Given the description of an element on the screen output the (x, y) to click on. 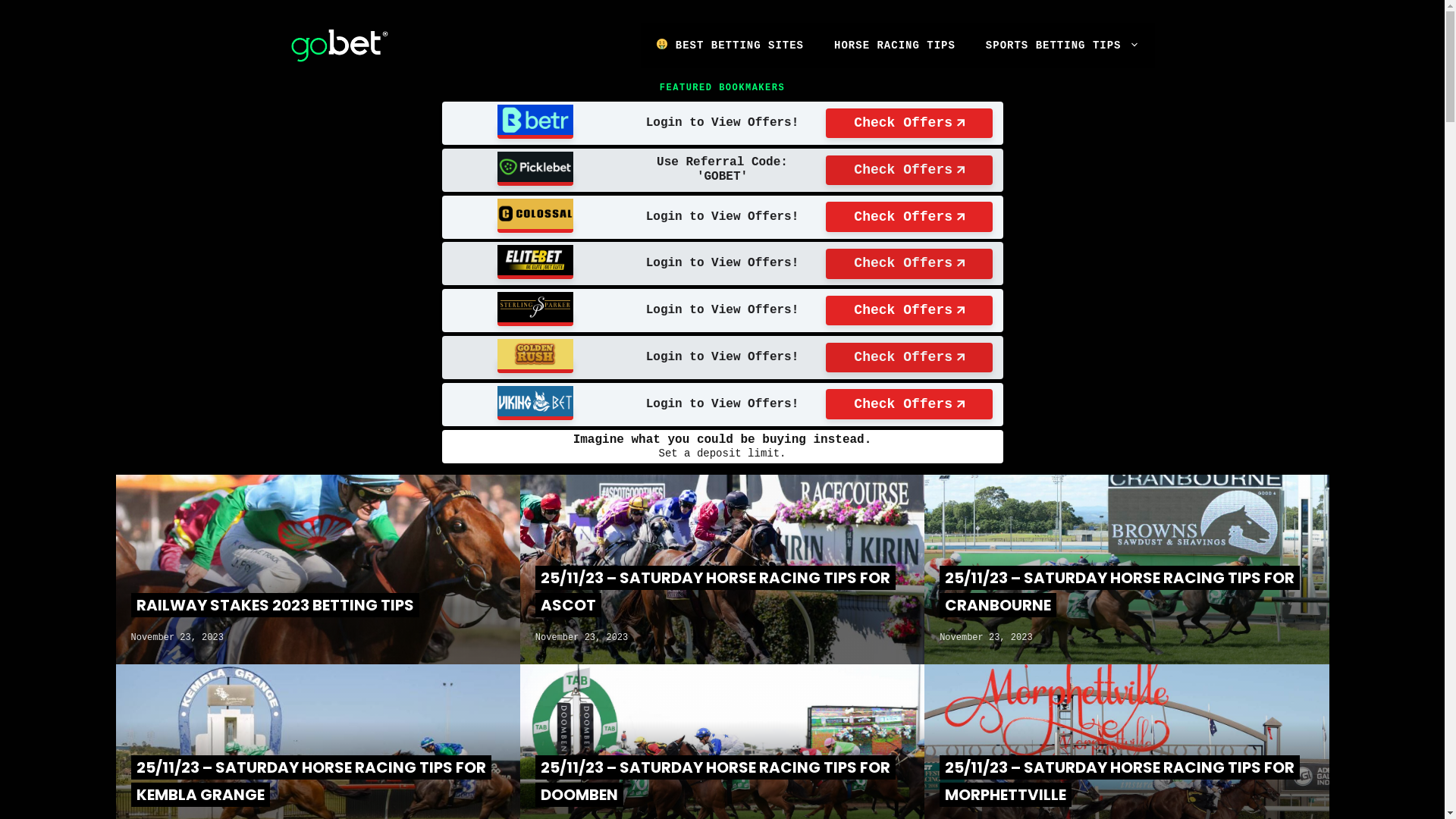
Check Offers Element type: text (908, 263)
RAILWAY STAKES 2023 BETTING TIPS Element type: text (274, 605)
SPORTS BETTING TIPS Element type: text (1062, 45)
Check Offers Element type: text (908, 357)
Check Offers Element type: text (908, 310)
BEST BETTING SITES Element type: text (729, 45)
Check Offers Element type: text (908, 123)
Check Offers Element type: text (908, 169)
HORSE RACING TIPS Element type: text (894, 45)
Check Offers Element type: text (908, 216)
Check Offers Element type: text (908, 404)
